Given the description of an element on the screen output the (x, y) to click on. 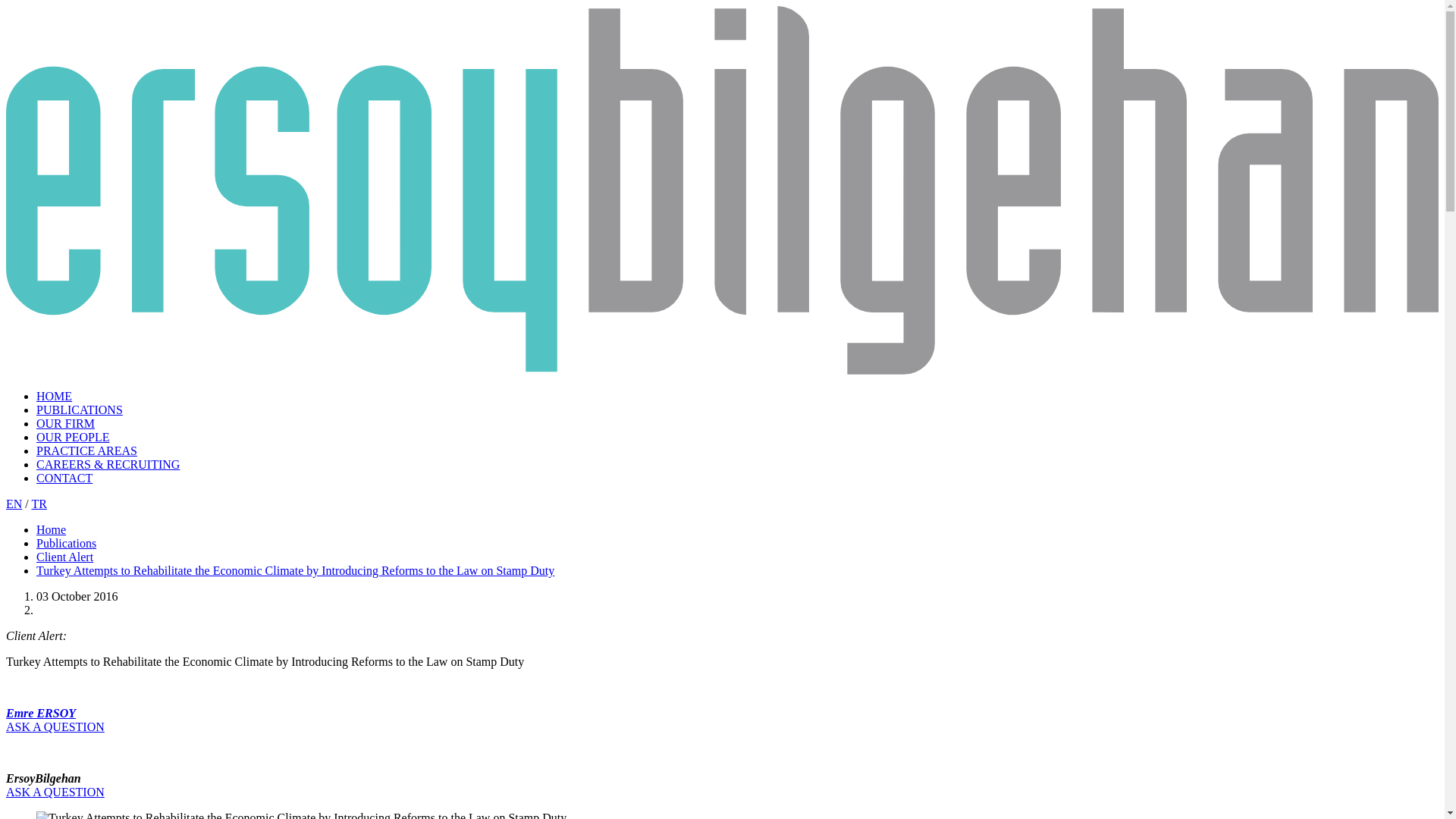
TR (38, 503)
HOME (53, 395)
OUR PEOPLE (72, 436)
Home (50, 529)
ASK A QUESTION (54, 791)
EN (13, 503)
ASK A QUESTION (54, 726)
PUBLICATIONS (79, 409)
OUR FIRM (65, 422)
Client Alert (64, 556)
PRACTICE AREAS (86, 450)
CONTACT (64, 477)
Publications (66, 543)
